Given the description of an element on the screen output the (x, y) to click on. 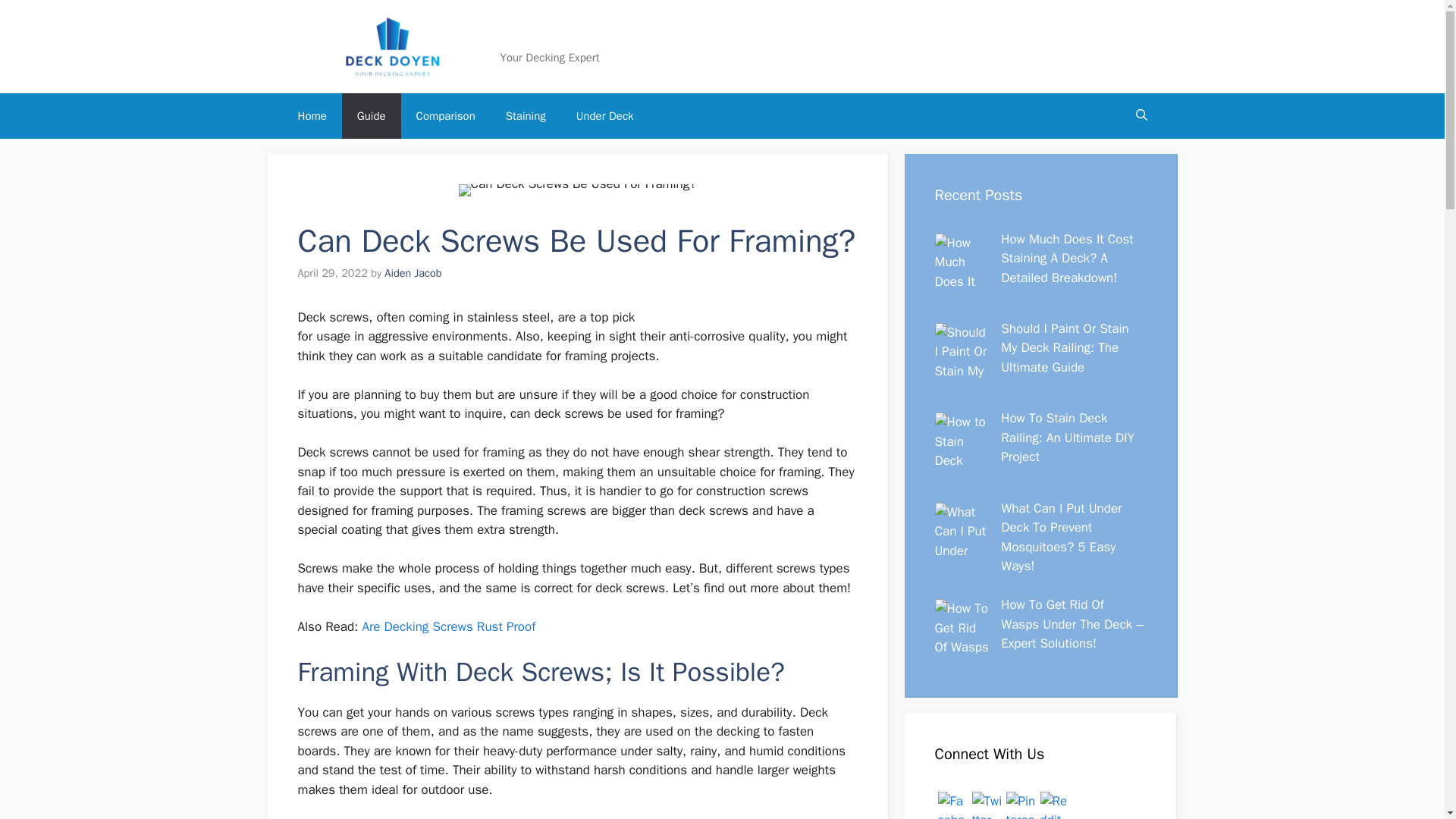
Aiden Jacob (412, 273)
Comparison (445, 115)
View all posts by Aiden Jacob (412, 273)
Are Decking Screws Rust Proof (448, 626)
Pinterest (1020, 805)
Guide (371, 115)
Twitter (987, 805)
Reddit (1055, 805)
Under Deck (604, 115)
